Given the description of an element on the screen output the (x, y) to click on. 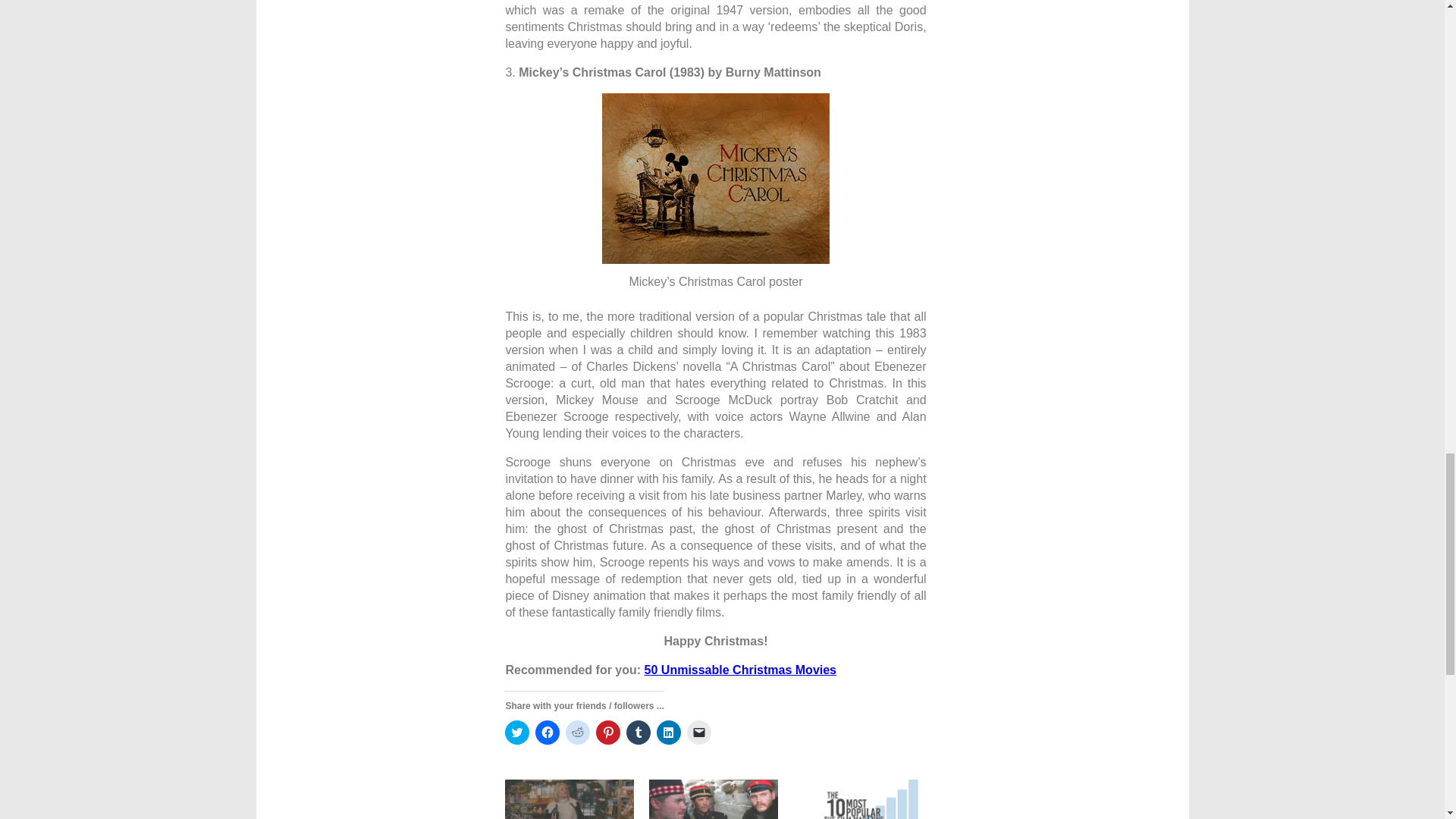
Click to share on Pinterest (607, 732)
Click to share on Reddit (577, 732)
Click to share on Tumblr (638, 732)
10 Most Popular The Film Magazine Articles 2018 (857, 799)
Click to email a link to a friend (699, 732)
Click to share on LinkedIn (668, 732)
Click to share on Twitter (517, 732)
Click to share on Facebook (547, 732)
